Given the description of an element on the screen output the (x, y) to click on. 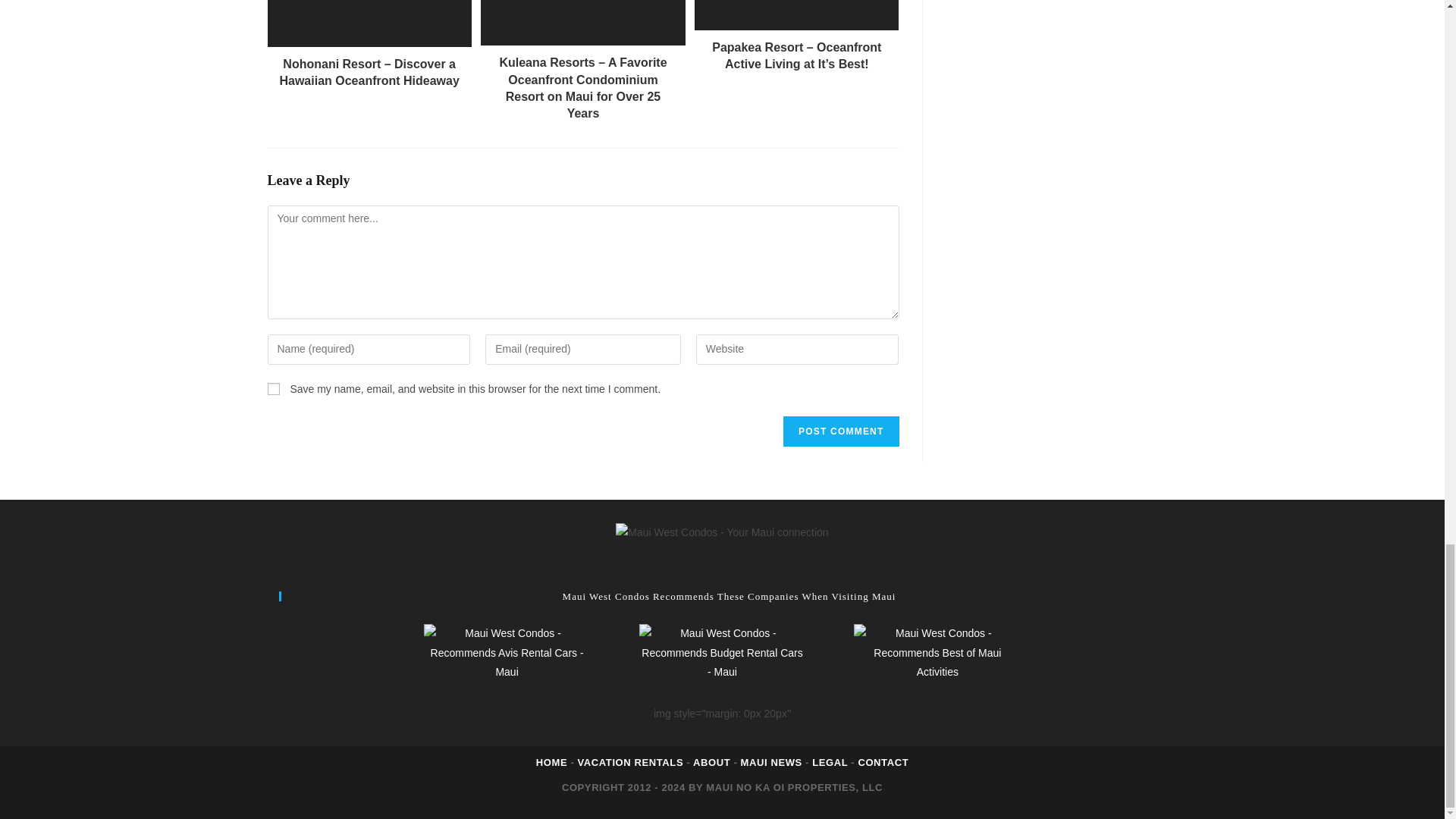
yes (272, 388)
Post Comment (840, 431)
Post Comment (840, 431)
